Given the description of an element on the screen output the (x, y) to click on. 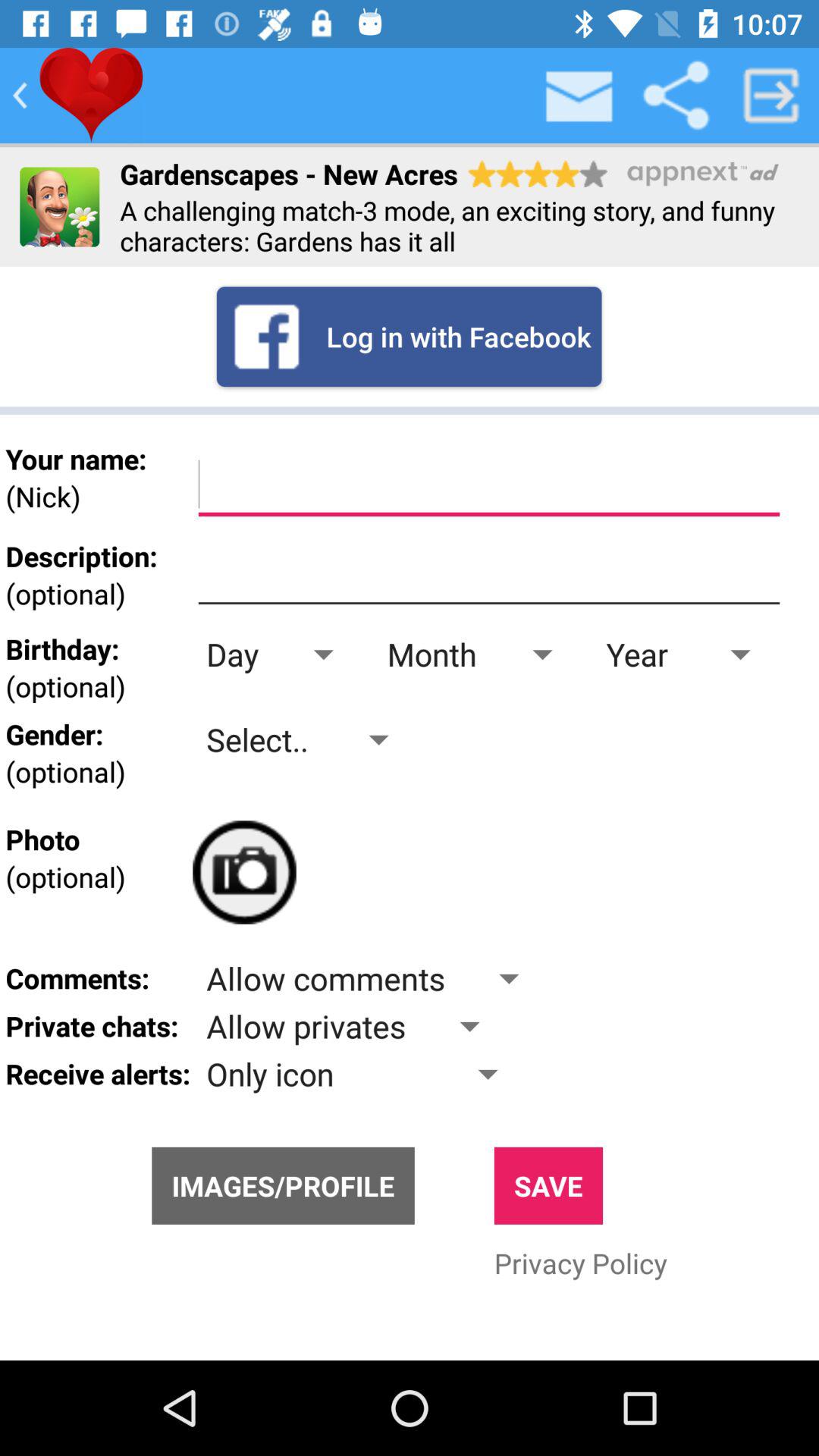
inbox button (579, 95)
